Given the description of an element on the screen output the (x, y) to click on. 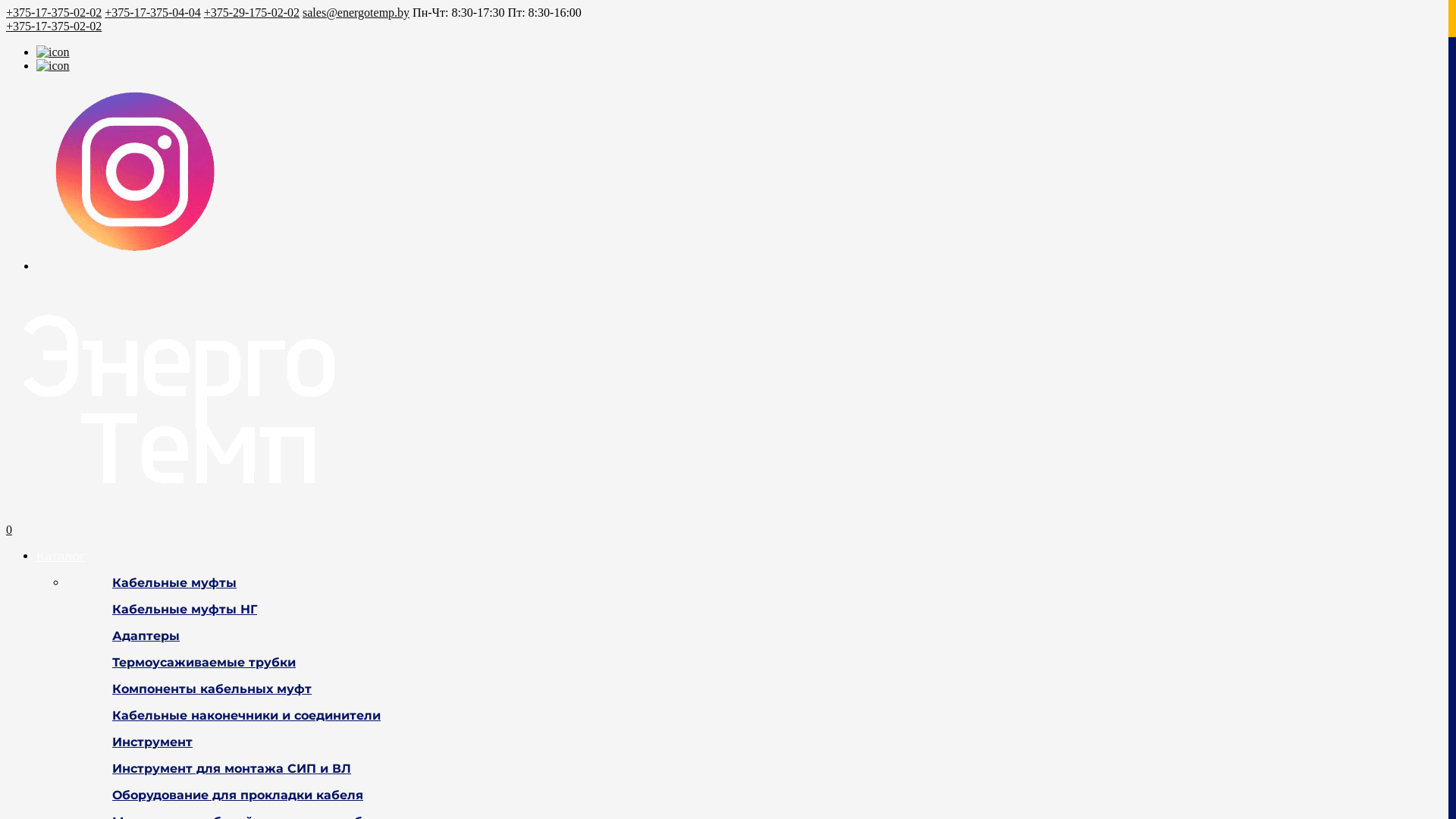
+375-29-175-02-02 Element type: text (251, 12)
+375-17-375-02-02 Element type: text (53, 25)
sales@energotemp.by Element type: text (355, 12)
+375-17-375-02-02 Element type: text (53, 12)
0 Element type: text (9, 529)
+375-17-375-04-04 Element type: text (152, 12)
